Given the description of an element on the screen output the (x, y) to click on. 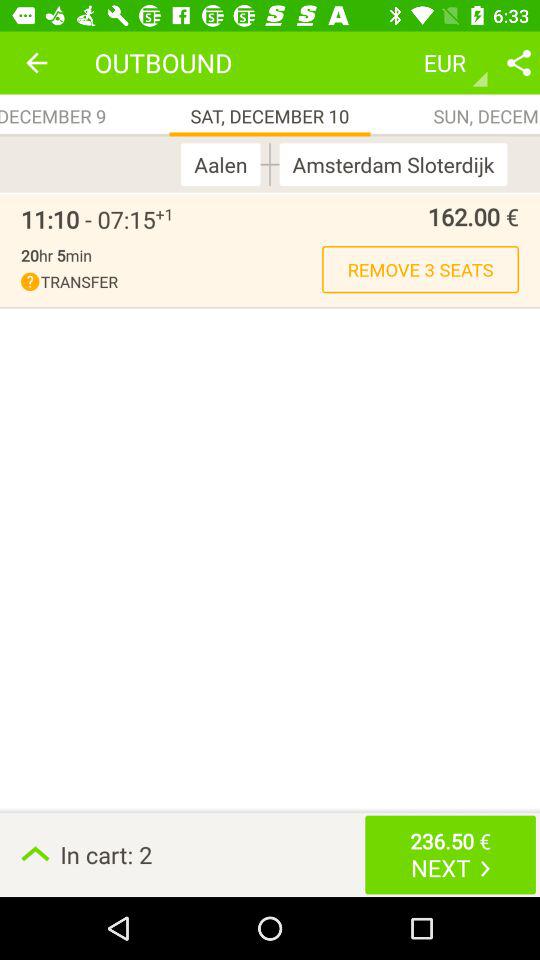
share ticket (519, 62)
